Given the description of an element on the screen output the (x, y) to click on. 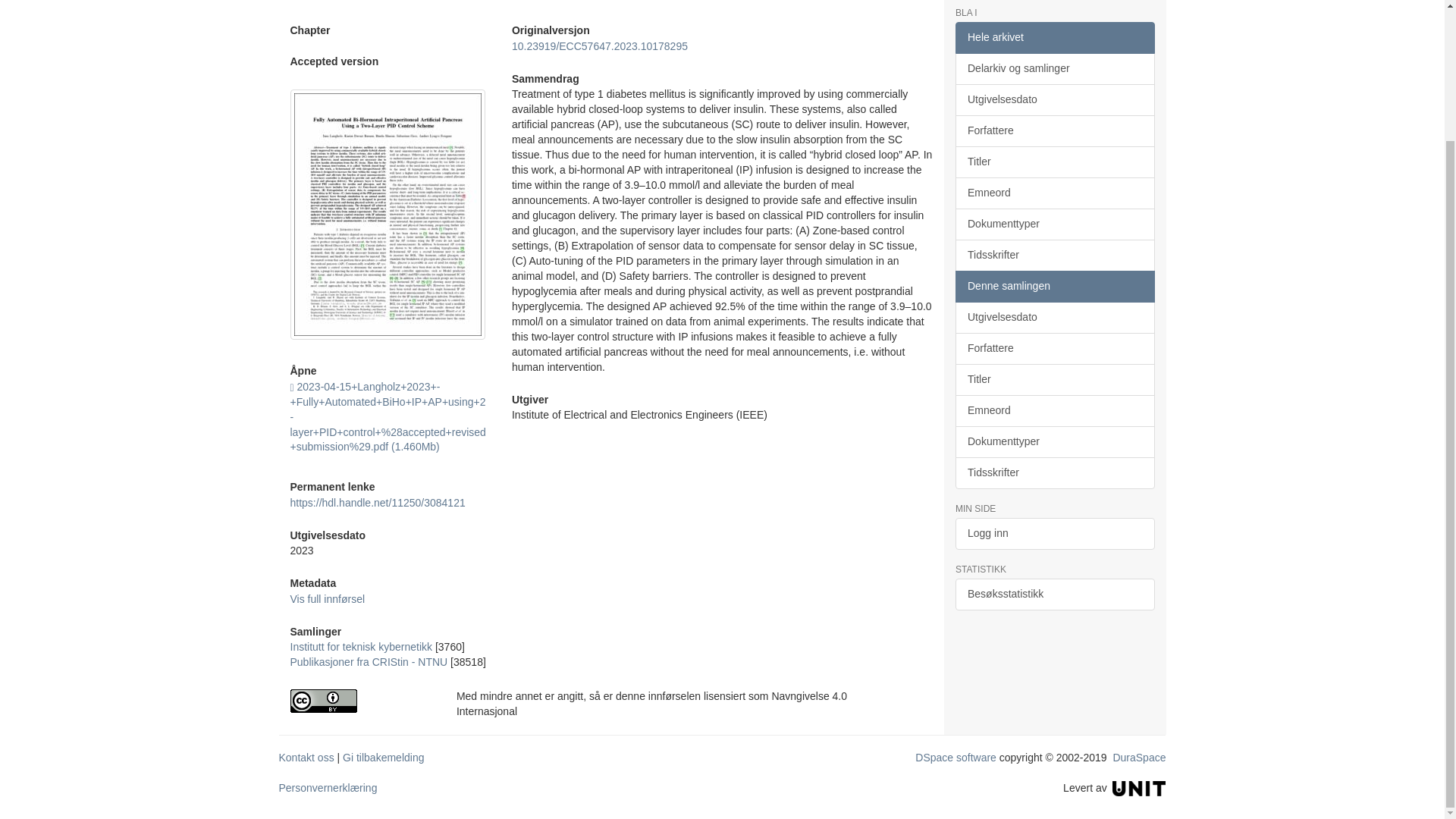
Institutt for teknisk kybernetikk (360, 646)
Unit (1139, 787)
Navngivelse 4.0 Internasjonal (360, 700)
Publikasjoner fra CRIStin - NTNU (367, 662)
Hele arkivet (1054, 38)
